Given the description of an element on the screen output the (x, y) to click on. 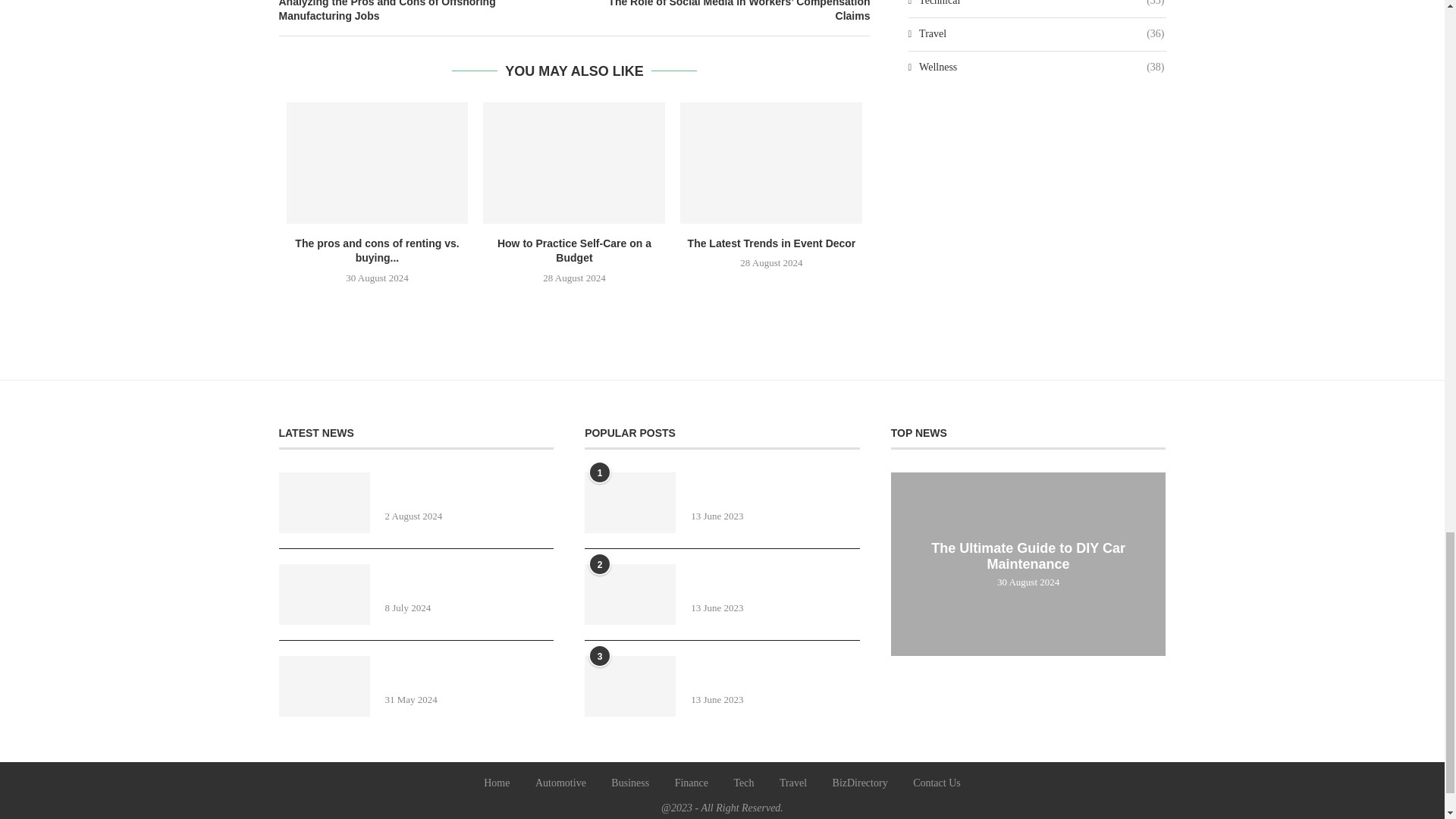
How to Practice Self-Care on a Budget (574, 162)
The pros and cons of renting vs. buying a home (377, 162)
The Latest Trends in Event Decor (770, 162)
Analyzing the Pros and Cons of Offshoring Manufacturing Jobs (427, 12)
